Given the description of an element on the screen output the (x, y) to click on. 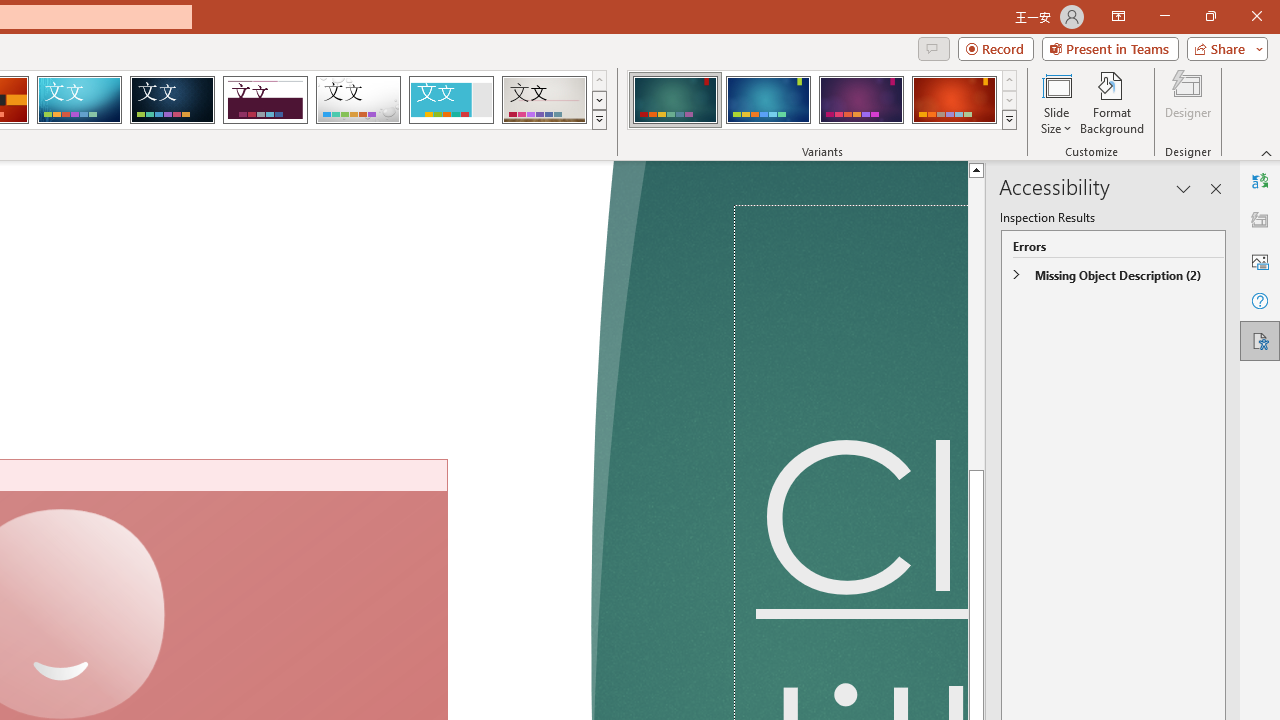
Ion Variant 2 (768, 100)
Slide Size (1056, 102)
Line up (976, 169)
Alt Text (1260, 260)
Variants (1009, 120)
Designer (1188, 102)
Droplet (358, 100)
Designer (1260, 220)
Class: NetUIImage (1009, 119)
Row Down (1009, 100)
Close pane (1215, 188)
Gallery (544, 100)
Dividend (265, 100)
Format Background (1111, 102)
